Given the description of an element on the screen output the (x, y) to click on. 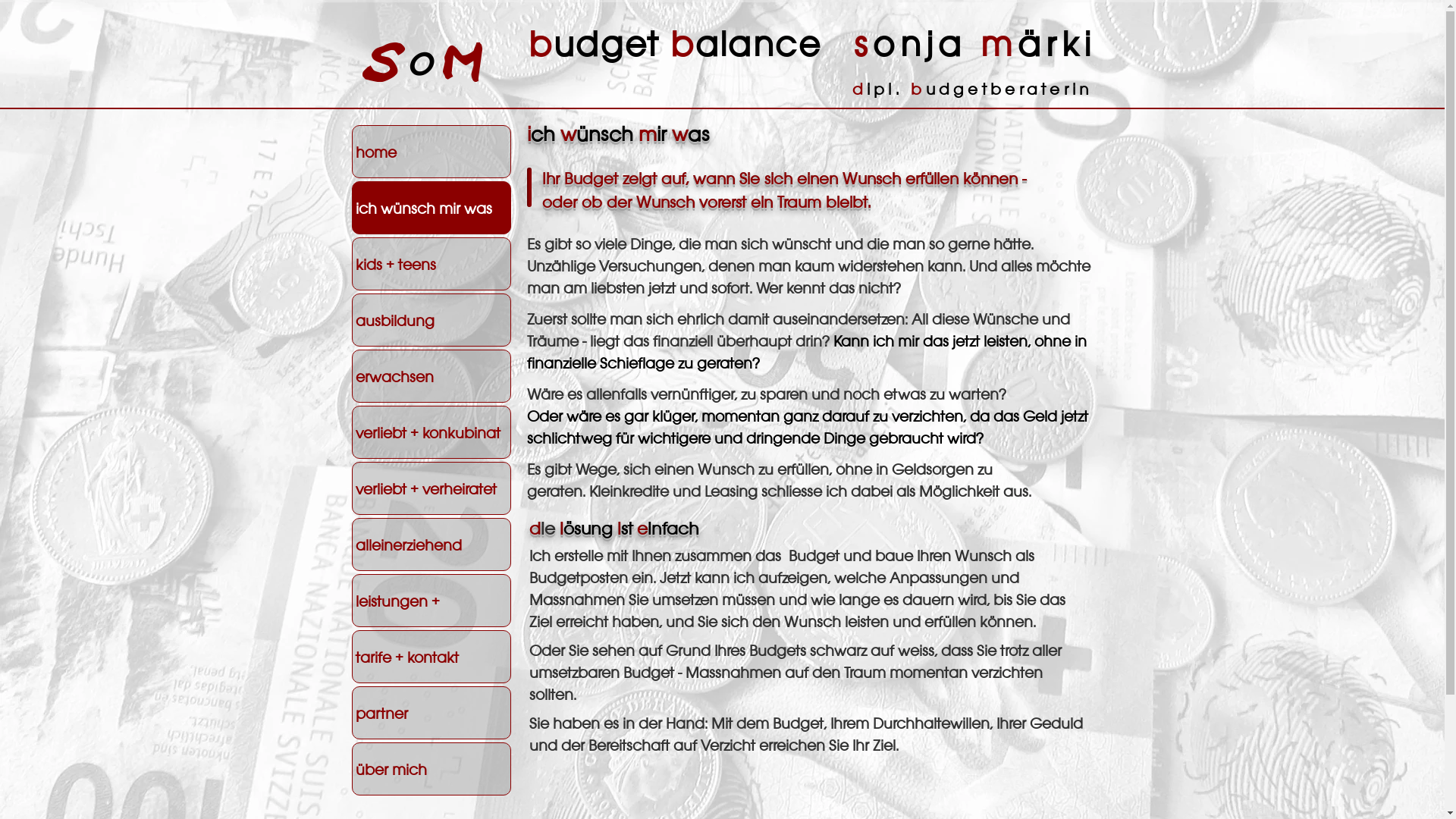
verliebt + konkubinat Element type: text (430, 432)
kids + teens Element type: text (430, 263)
partner Element type: text (430, 712)
tarife + kontakt Element type: text (430, 656)
erwachsen Element type: text (430, 375)
alleinerziehend Element type: text (430, 544)
home Element type: text (430, 151)
verliebt + verheiratet Element type: text (430, 488)
ausbildung Element type: text (430, 319)
leistungen + Element type: text (430, 600)
